Given the description of an element on the screen output the (x, y) to click on. 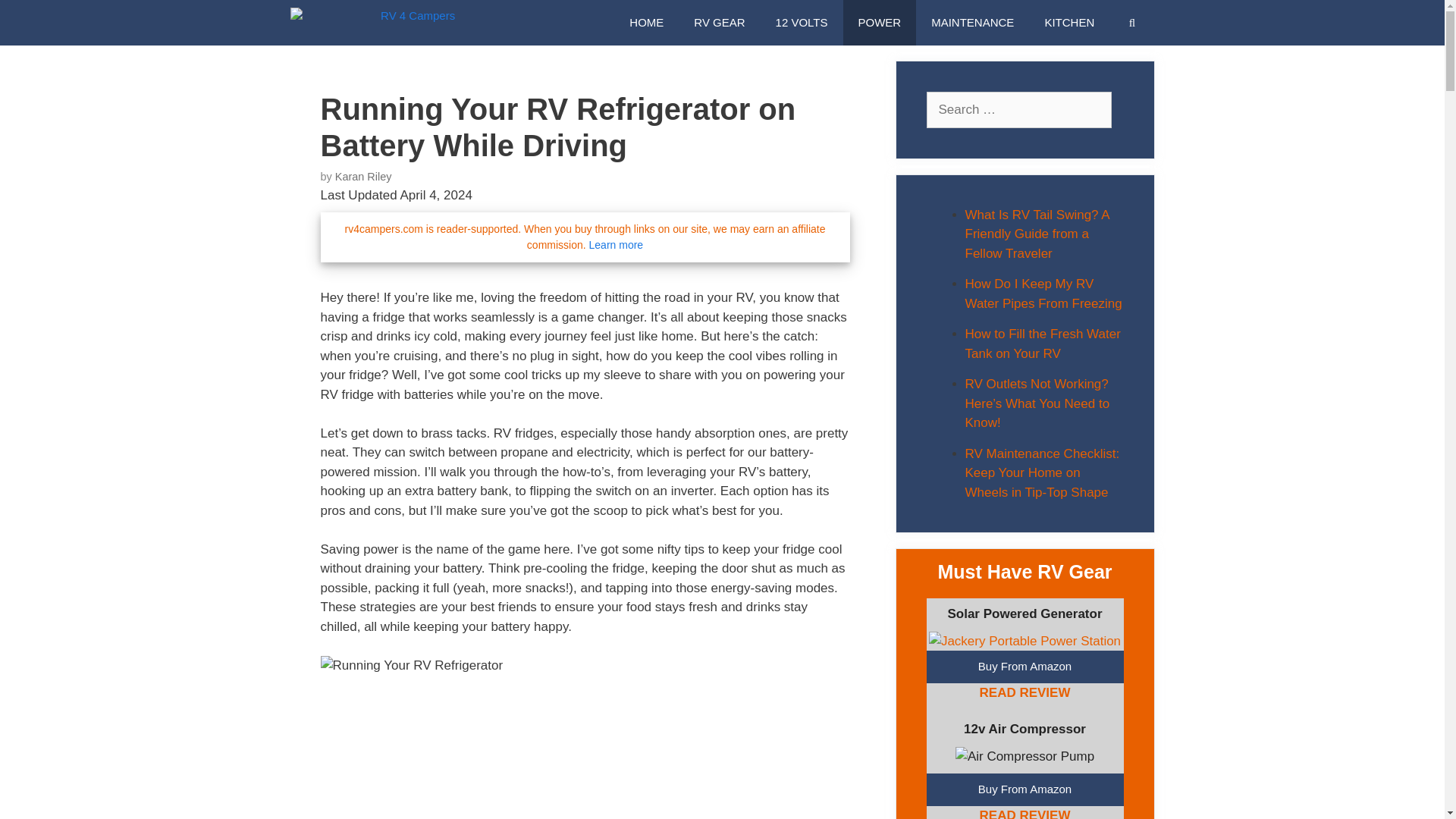
12 VOLTS (801, 22)
Search for: (1019, 109)
KITCHEN (1069, 22)
How Do I Keep My RV Water Pipes From Freezing (1042, 293)
Learn more (616, 244)
RV 4 Campers (371, 22)
POWER (880, 22)
MAINTENANCE (972, 22)
Search (34, 17)
Karan Riley (362, 176)
RV GEAR (719, 22)
RV 4 Campers (376, 22)
